Given the description of an element on the screen output the (x, y) to click on. 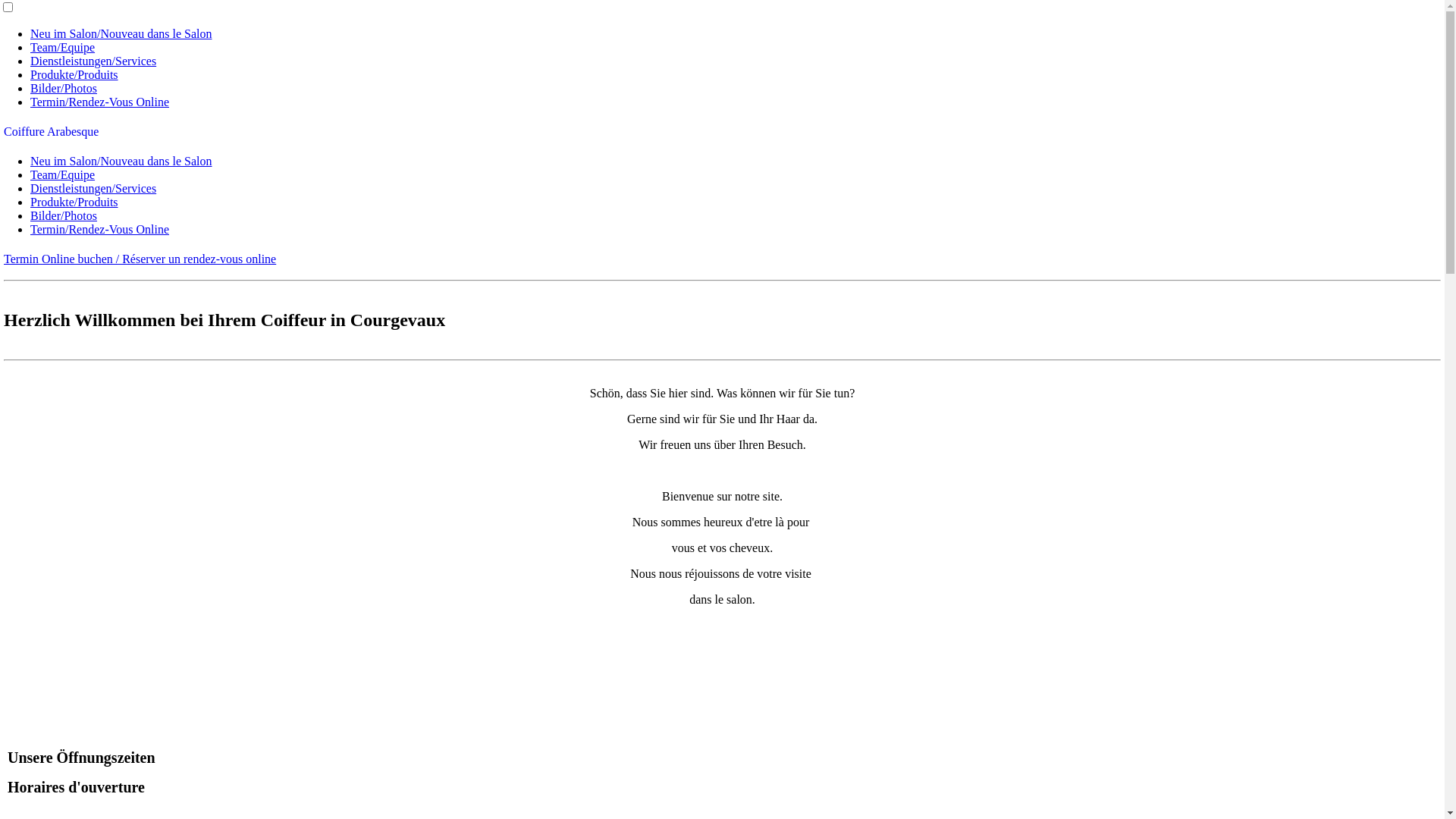
Dienstleistungen/Services Element type: text (93, 188)
Termin/Rendez-Vous Online Element type: text (99, 101)
Coiffure Arabesque Element type: text (50, 131)
Dienstleistungen/Services Element type: text (93, 60)
Bilder/Photos Element type: text (63, 215)
Team/Equipe Element type: text (62, 46)
Neu im Salon/Nouveau dans le Salon Element type: text (121, 33)
Termin/Rendez-Vous Online Element type: text (99, 228)
Neu im Salon/Nouveau dans le Salon Element type: text (121, 160)
Team/Equipe Element type: text (62, 174)
Bilder/Photos Element type: text (63, 87)
Produkte/Produits Element type: text (74, 201)
Produkte/Produits Element type: text (74, 74)
